Given the description of an element on the screen output the (x, y) to click on. 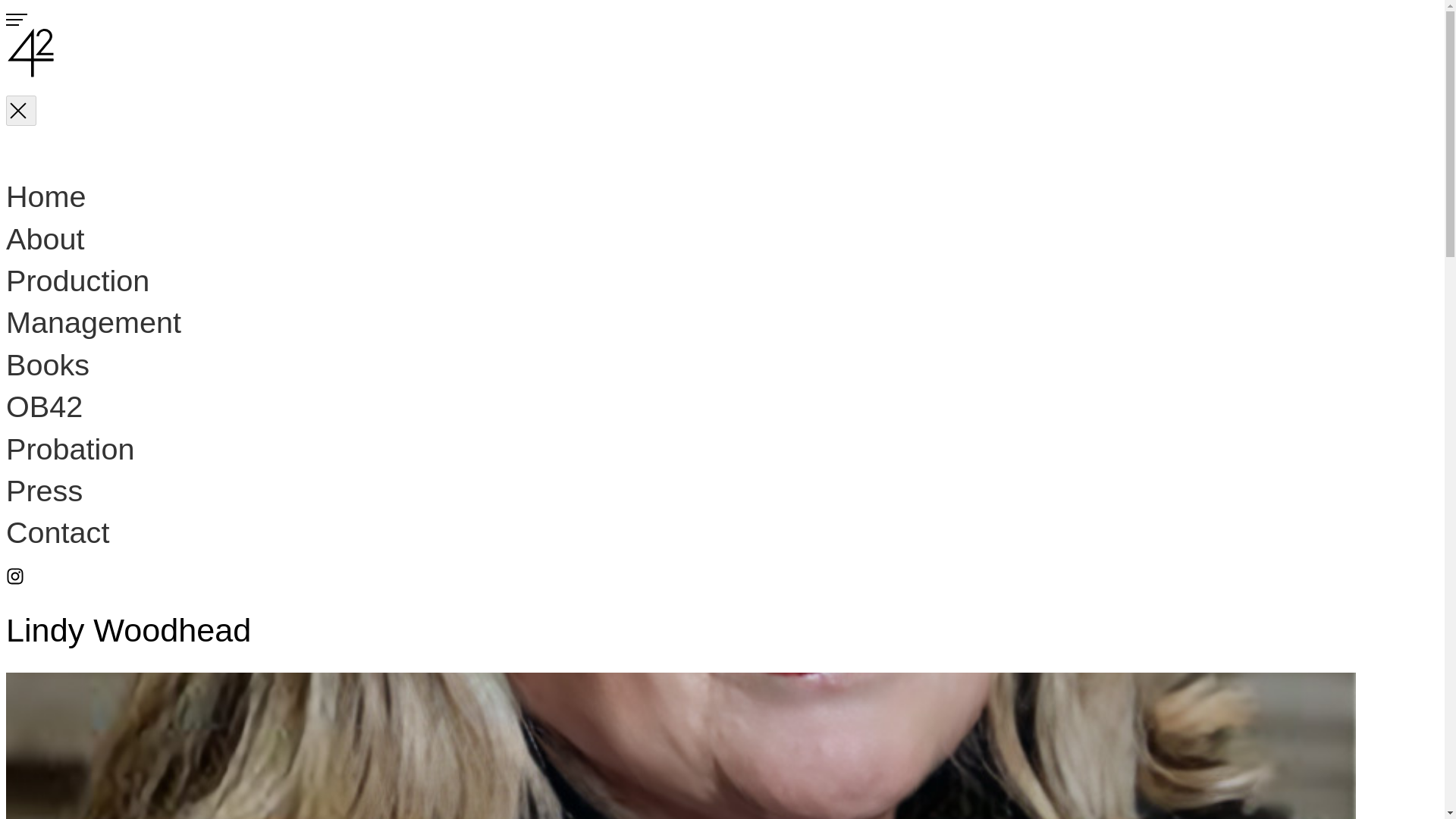
Press (43, 490)
Home (45, 195)
Contact (57, 531)
About (44, 238)
OB42 (43, 406)
Production (77, 280)
Books (46, 364)
Probation (69, 449)
Management (92, 322)
